Given the description of an element on the screen output the (x, y) to click on. 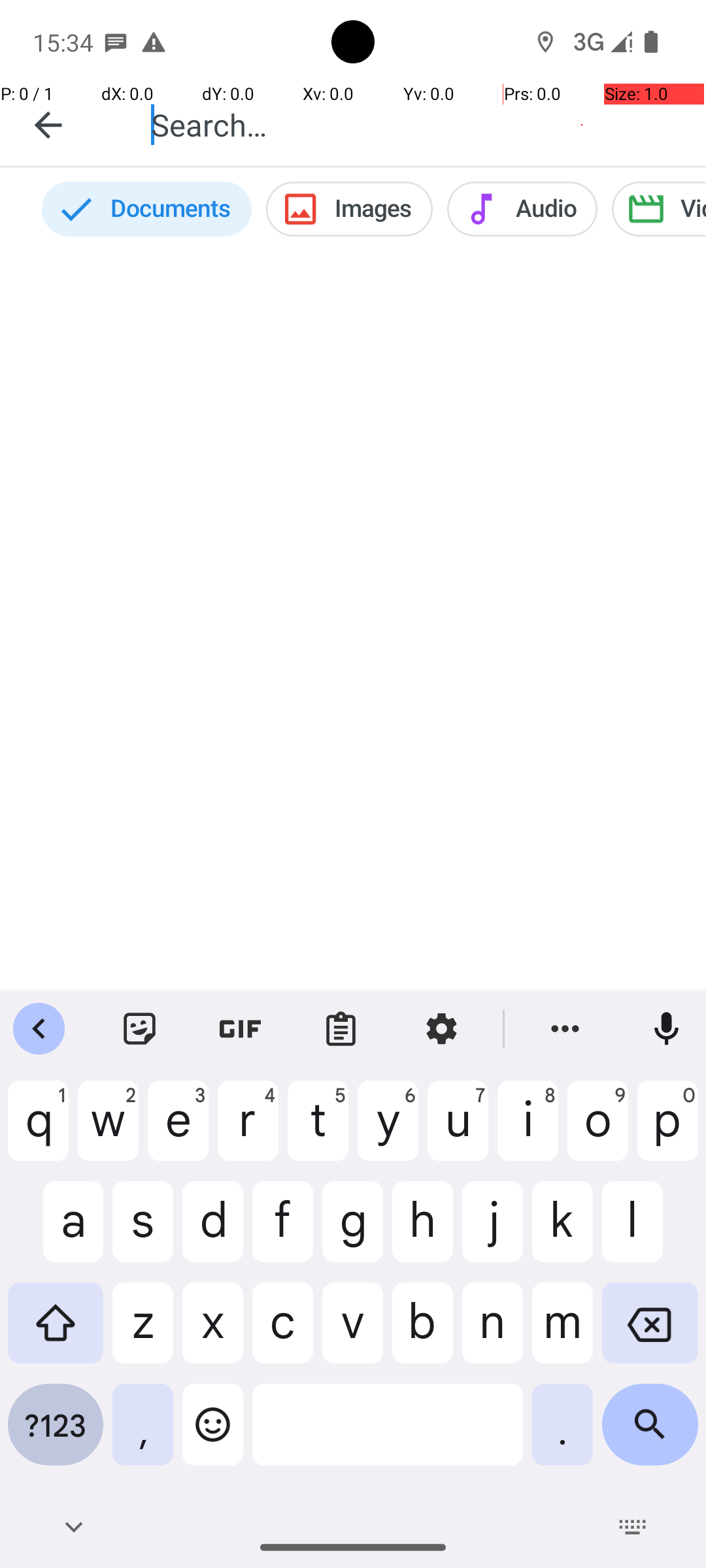
Search… Element type: android.widget.AutoCompleteTextView (414, 124)
Documents Element type: android.widget.CompoundButton (146, 208)
Images Element type: android.widget.CompoundButton (349, 208)
Audio Element type: android.widget.CompoundButton (522, 208)
Videos Element type: android.widget.CompoundButton (658, 208)
